Given the description of an element on the screen output the (x, y) to click on. 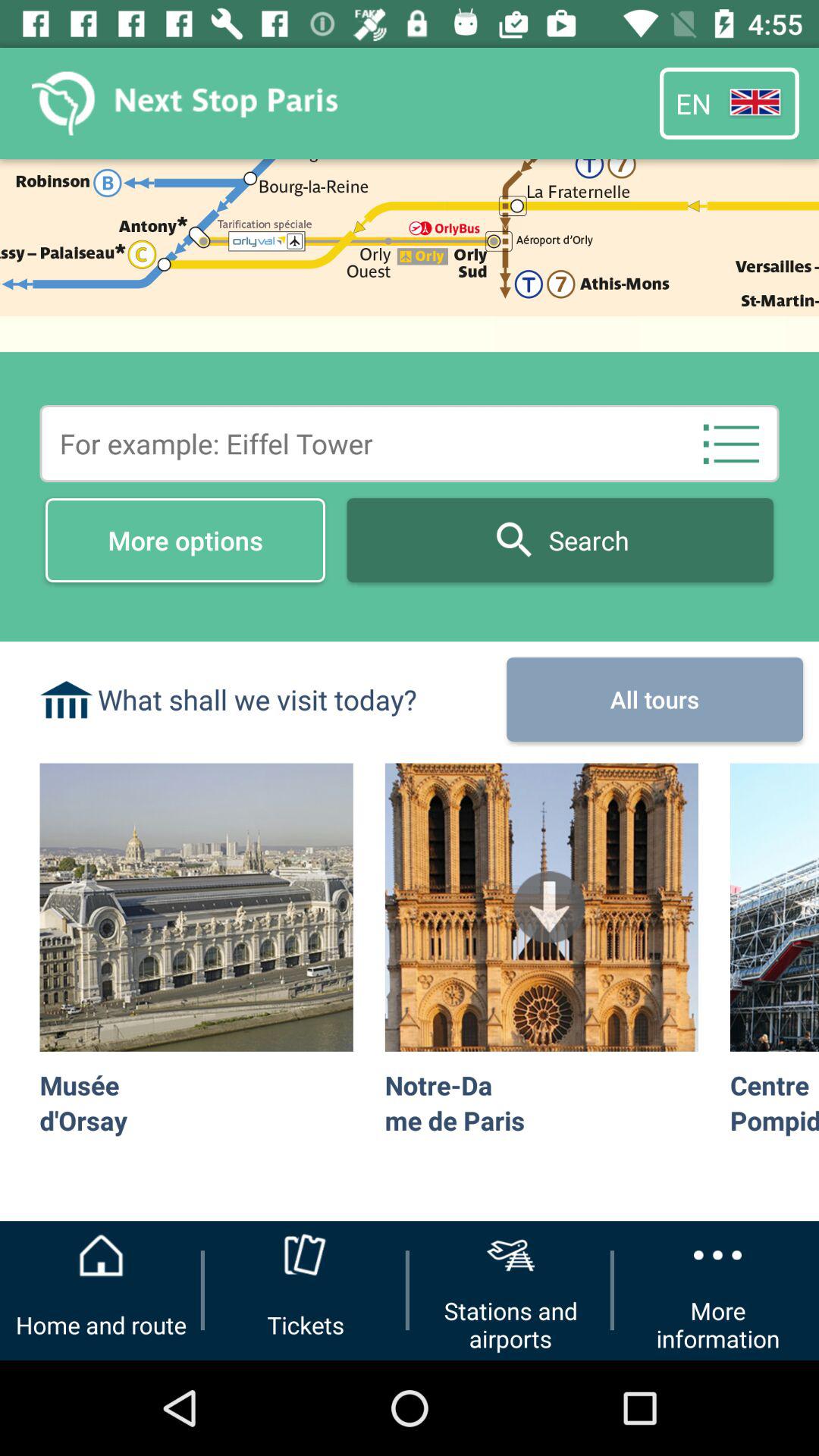
turn off the item to the right of more options icon (731, 443)
